Given the description of an element on the screen output the (x, y) to click on. 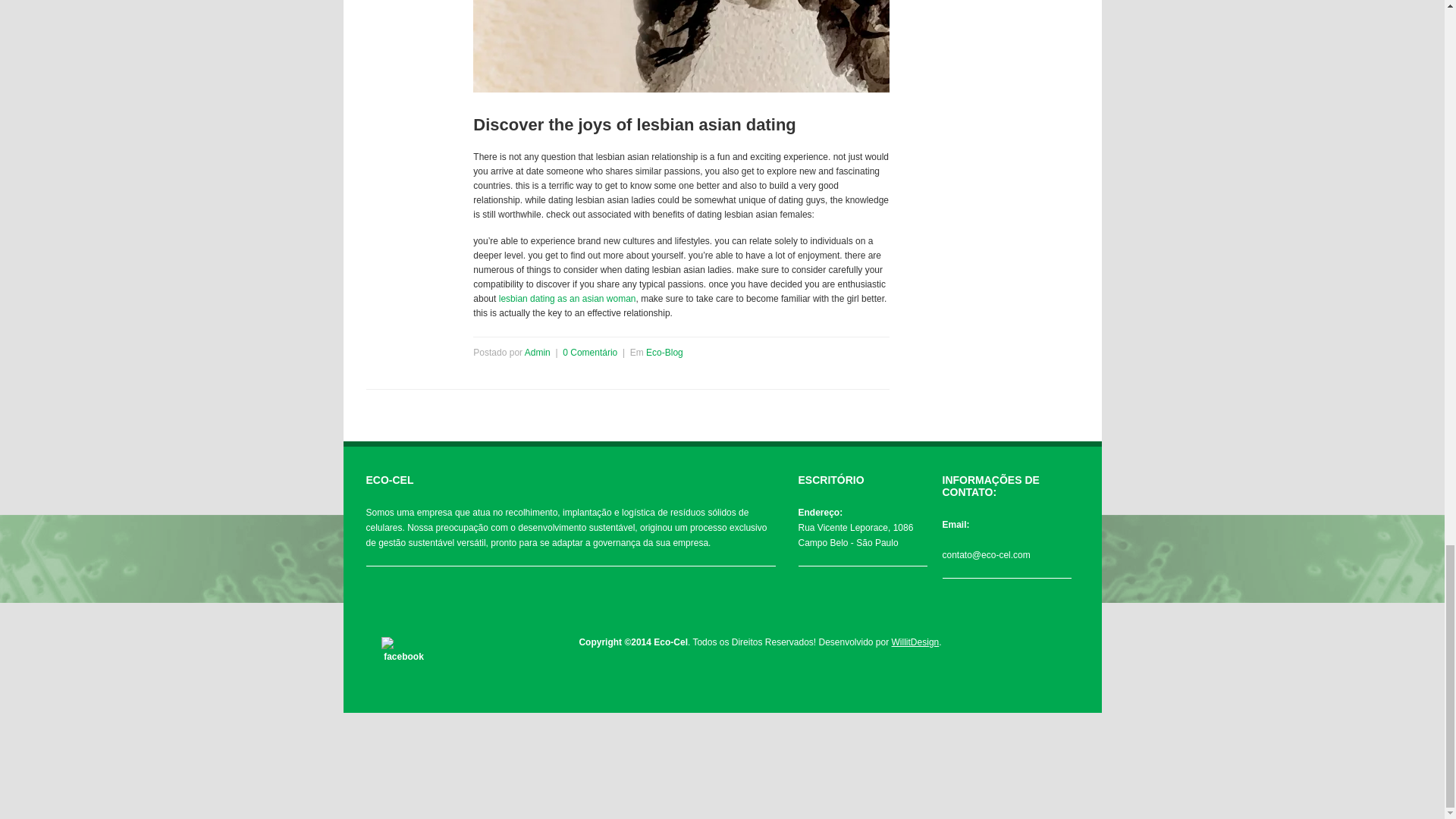
Admin (537, 352)
lesbian dating as an asian woman (567, 298)
Ver todos os posts em Eco-Blog (664, 352)
Eco-Blog (664, 352)
WillitDesign (915, 642)
